Given the description of an element on the screen output the (x, y) to click on. 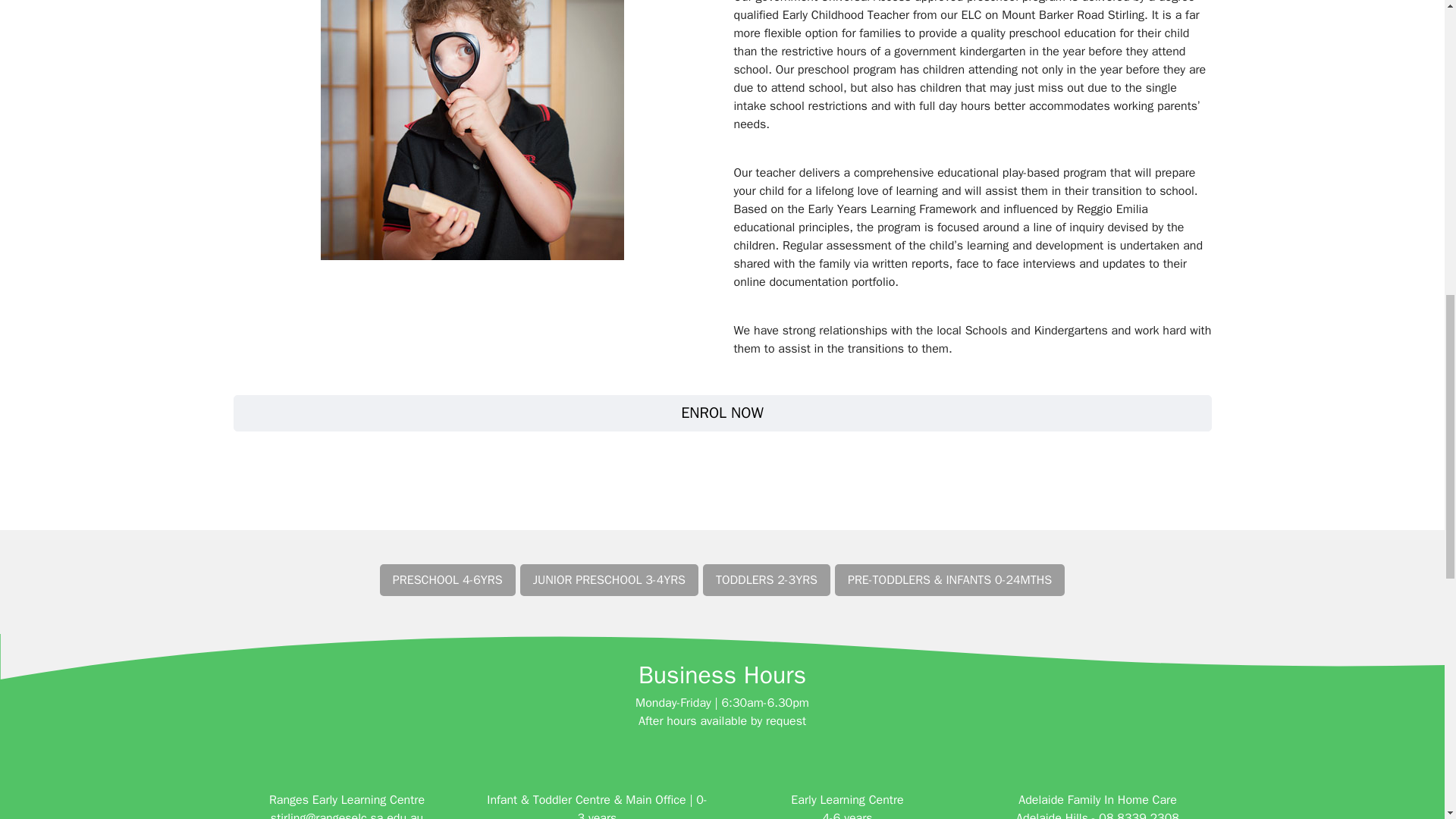
ENROL NOW (721, 412)
TODDLERS 2-3YRS (766, 580)
PRESCHOOL 4-6YRS (447, 580)
08 8339 2308 (1139, 814)
JUNIOR PRESCHOOL 3-4YRS (608, 580)
